Given the description of an element on the screen output the (x, y) to click on. 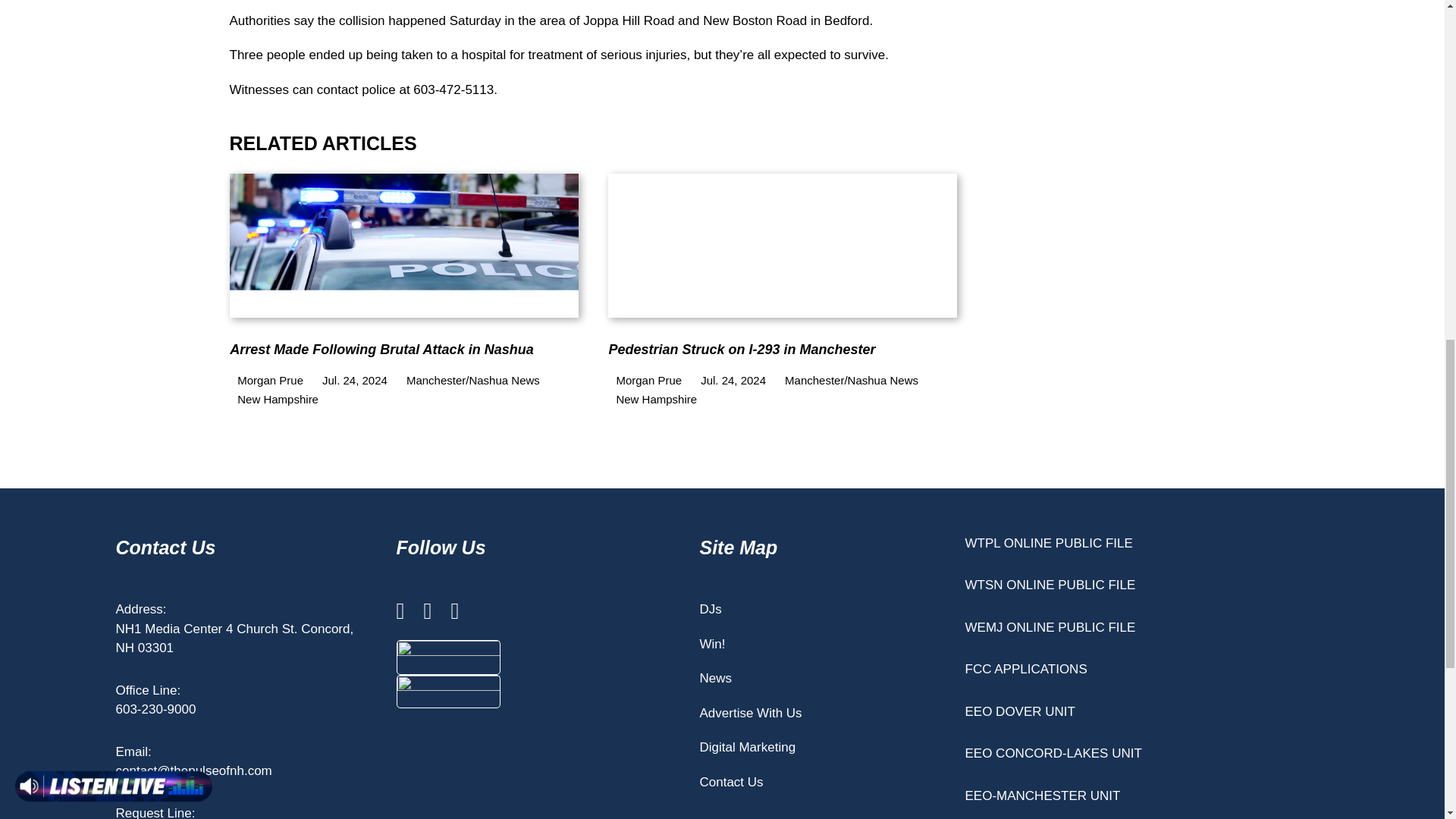
App Store (448, 657)
